Given the description of an element on the screen output the (x, y) to click on. 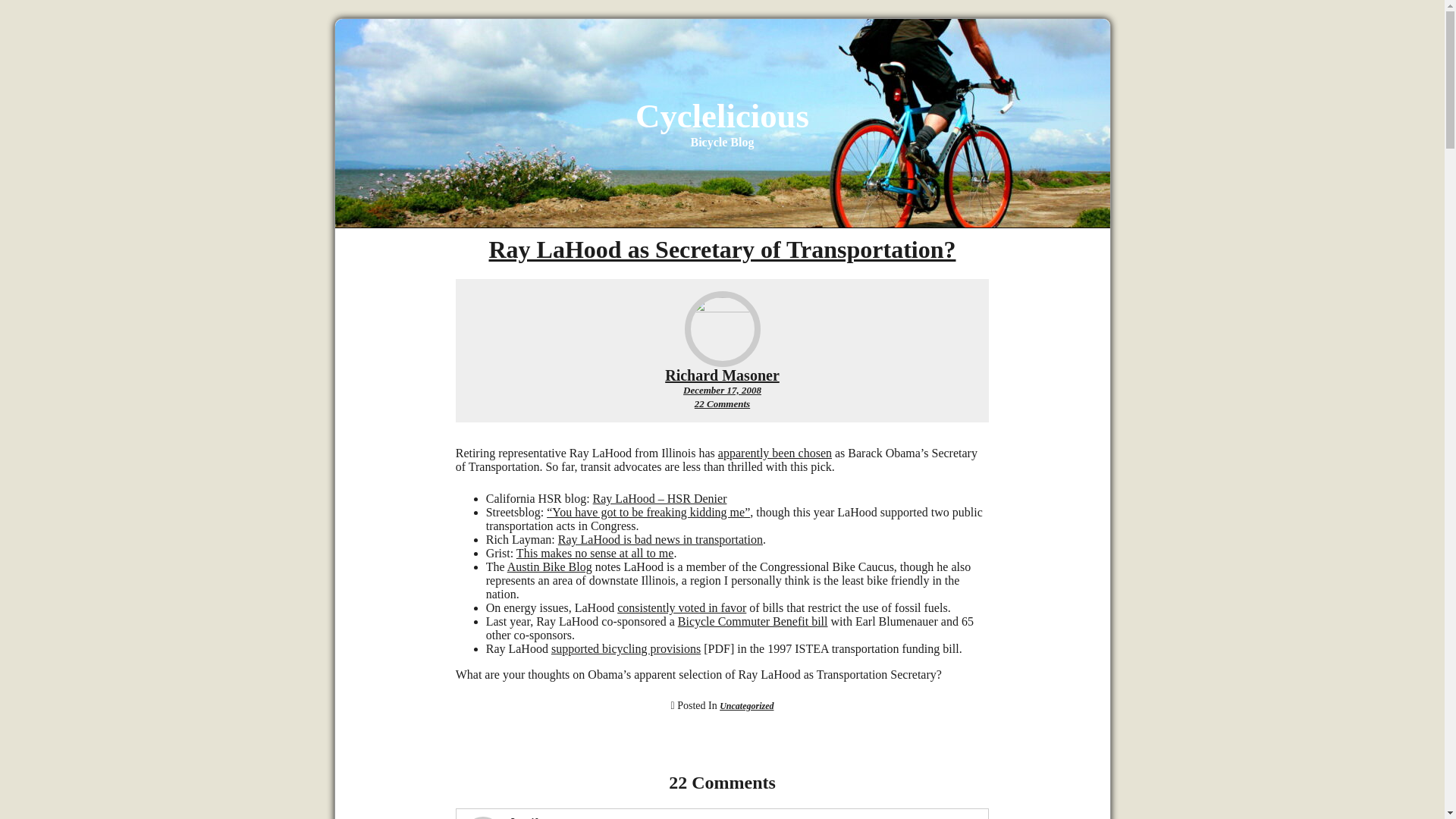
Ray LaHood is bad news in transportation (659, 539)
Cyclelicious (721, 116)
consistently voted in favor (681, 607)
supported bicycling provisions (625, 648)
4:42 pm (721, 389)
This makes no sense at all to me (595, 553)
Bicycle Commuter Benefit bill (753, 621)
Richard Masoner (721, 375)
Uncategorized (746, 706)
December 17, 2008 (721, 389)
View all posts by Richard Masoner (721, 375)
Ray LaHood as Secretary of Transportation? (721, 248)
apparently been chosen (721, 403)
